Given the description of an element on the screen output the (x, y) to click on. 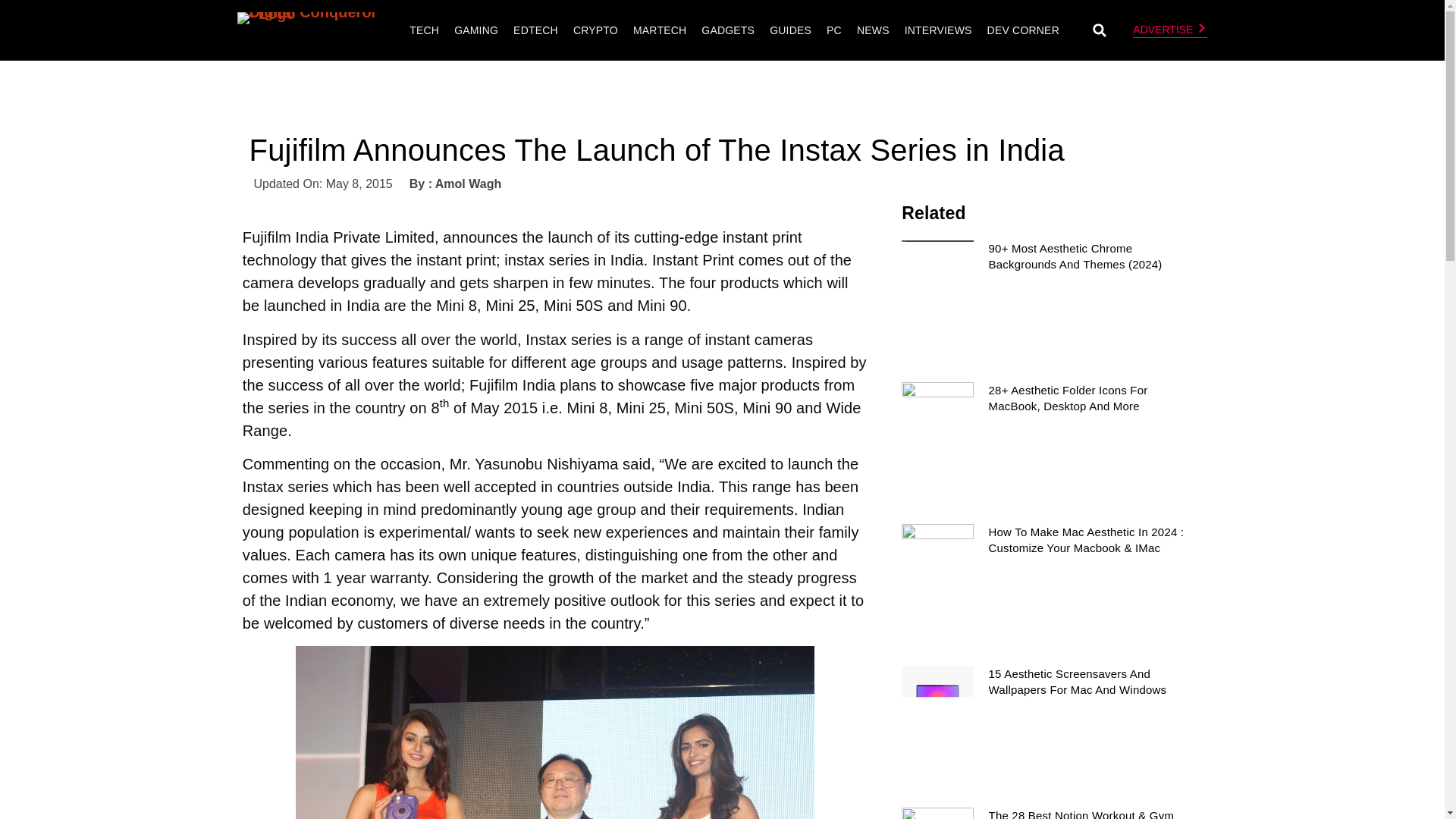
EDTECH (535, 30)
GAMING (475, 30)
INTERVIEWS (938, 30)
NEWS (873, 30)
GUIDES (790, 30)
DEV CORNER (1022, 30)
TECH (424, 30)
GADGETS (727, 30)
MARTECH (659, 30)
CRYPTO (595, 30)
